Given the description of an element on the screen output the (x, y) to click on. 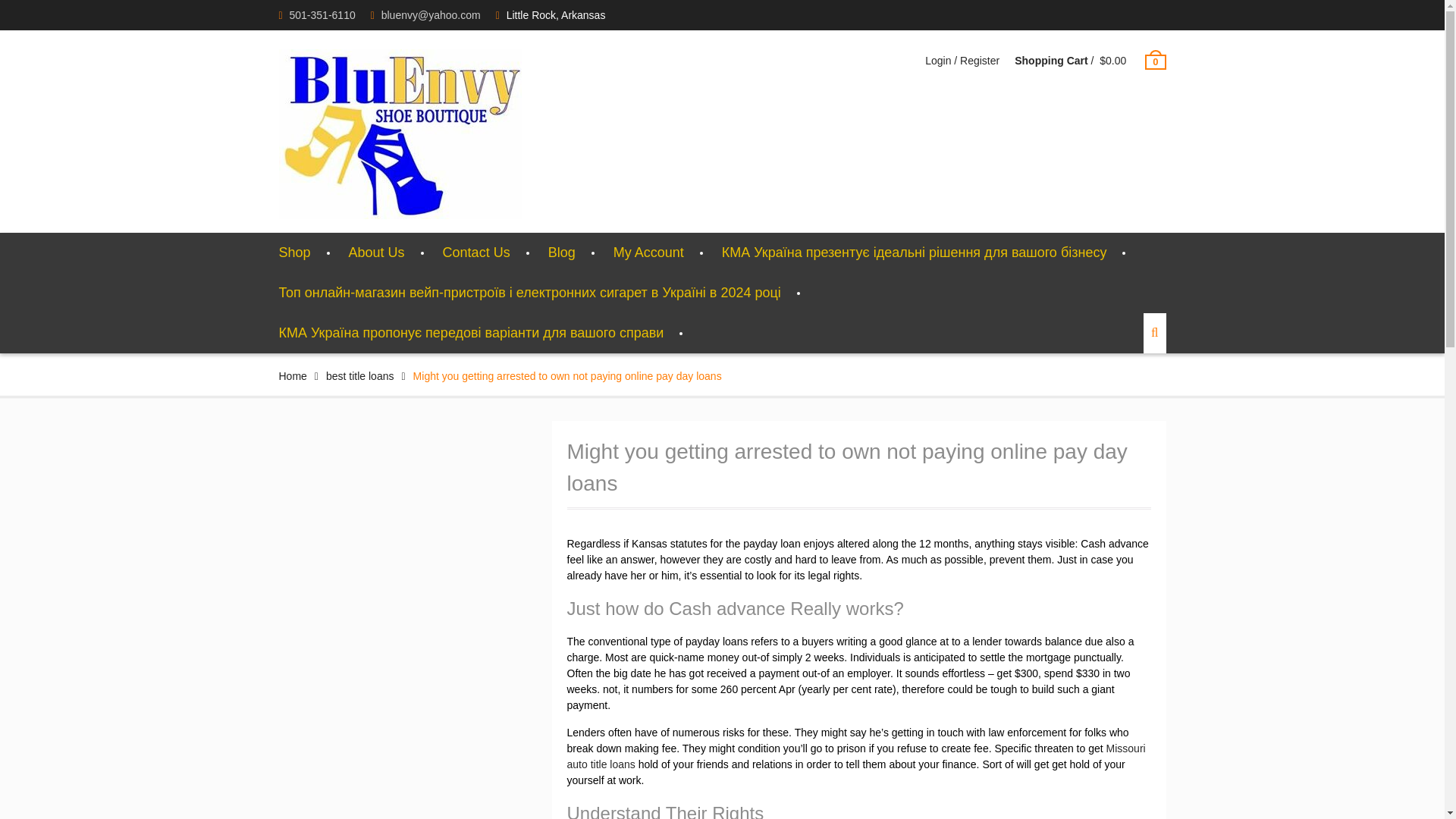
Contact Us (476, 252)
About Us (376, 252)
0 (1155, 61)
best title loans (360, 376)
501-351-6110 (322, 15)
Missouri auto title loans (856, 756)
Home (293, 376)
My Account (648, 252)
